Given the description of an element on the screen output the (x, y) to click on. 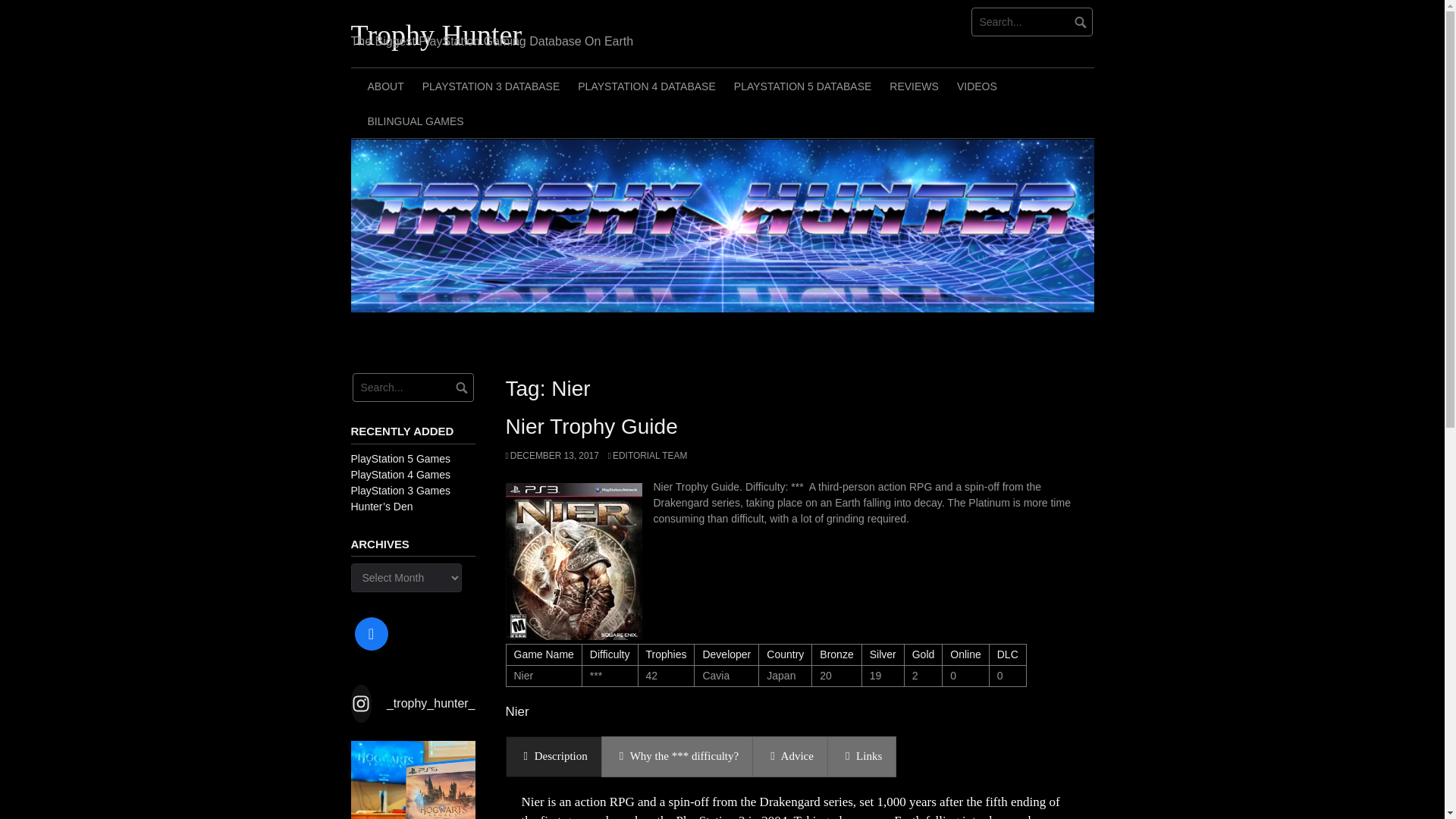
Description (553, 756)
Advice (790, 756)
BILINGUAL GAMES (414, 120)
Facebook (370, 633)
PlayStation 4 Games (399, 474)
EDITORIAL TEAM (647, 455)
PlayStation 3 Games (399, 490)
PLAYSTATION 5 DATABASE (802, 85)
REVIEWS (913, 85)
Links (861, 756)
PLAYSTATION 3 DATABASE (491, 85)
ABOUT (385, 85)
Nier Trophy Guide (591, 426)
PlayStation 5 Games (399, 458)
DECEMBER 13, 2017 (551, 455)
